Given the description of an element on the screen output the (x, y) to click on. 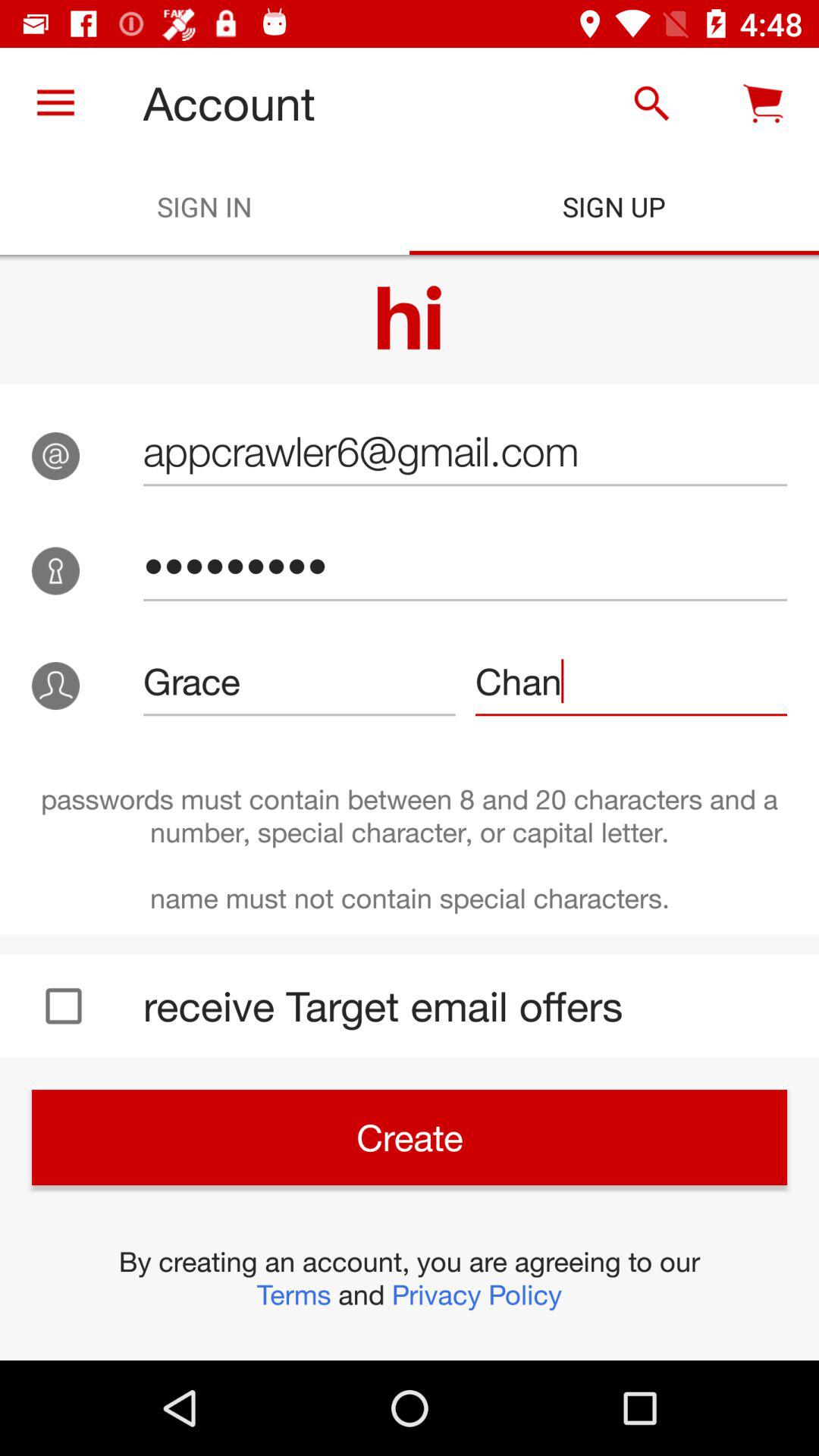
scroll to the crowd3116 item (465, 566)
